Given the description of an element on the screen output the (x, y) to click on. 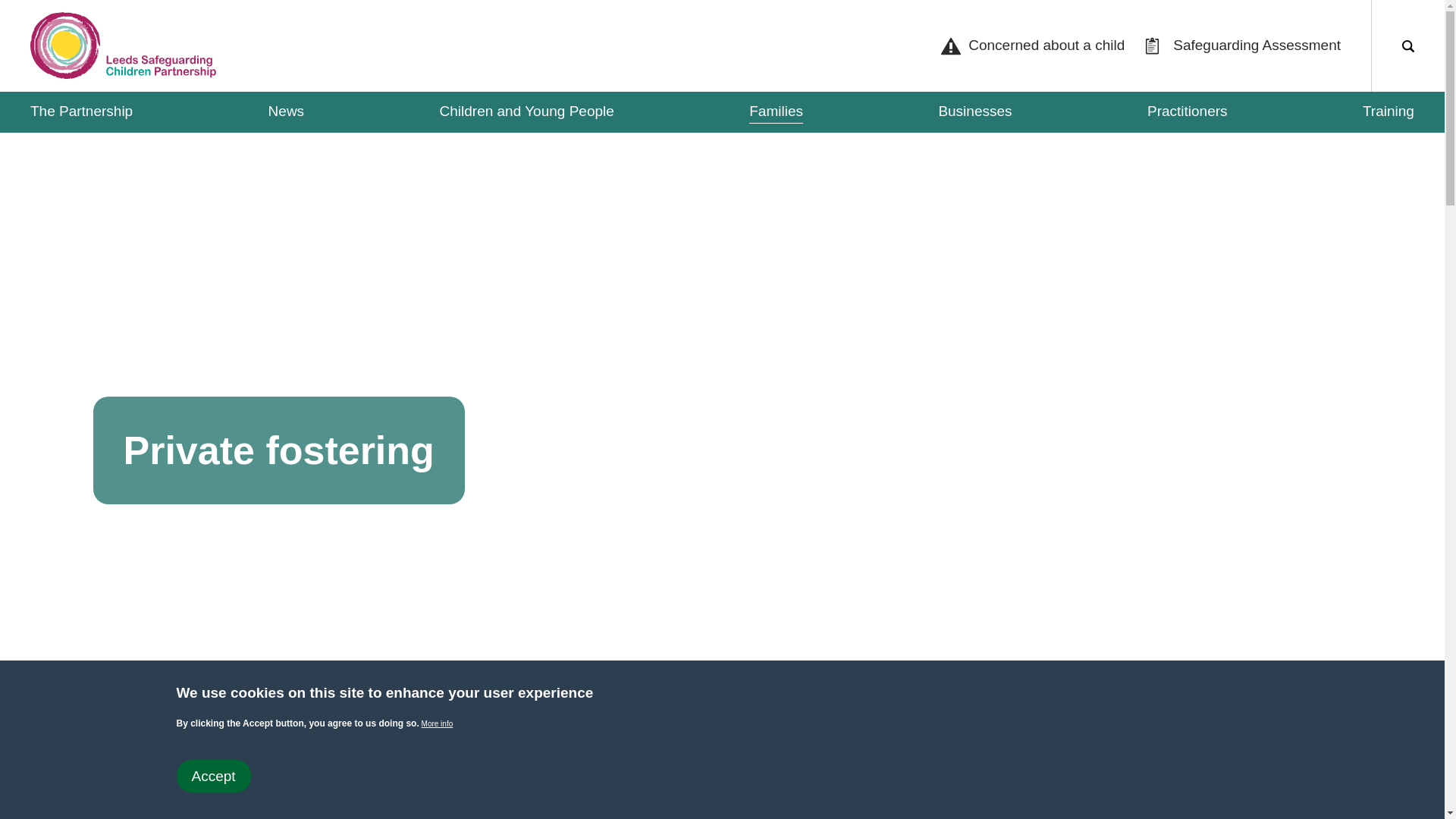
Practitioners (1187, 111)
Families (776, 111)
Quick leave to The Guardian (797, 799)
Return Interview Service (357, 771)
Reviewing child deaths (357, 810)
Concerned about a child (1030, 46)
Children and Young People (526, 111)
Training (1387, 111)
More info (437, 723)
Quick leave to BBC (769, 799)
